Given the description of an element on the screen output the (x, y) to click on. 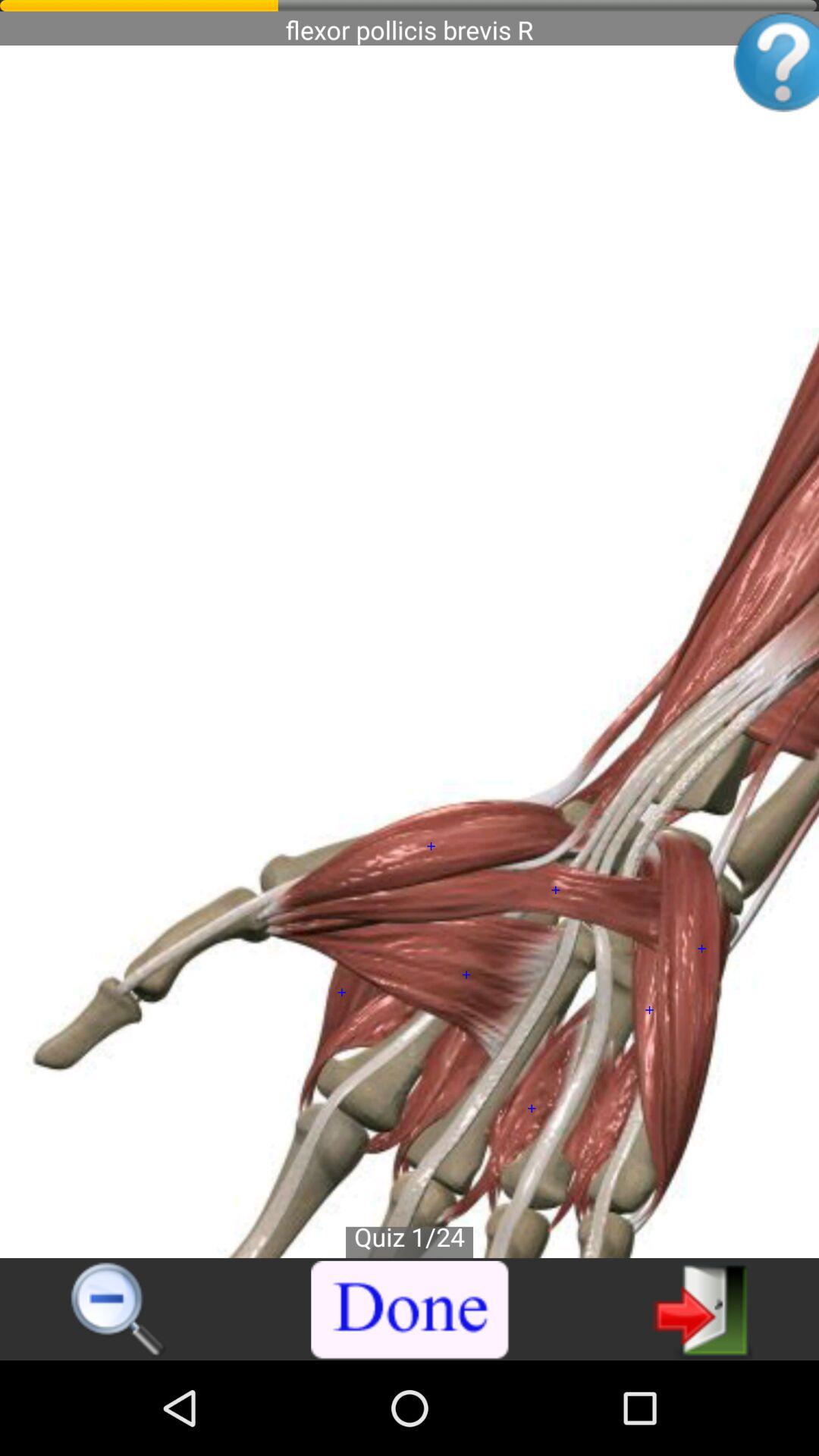
minimize photo (118, 1310)
